Given the description of an element on the screen output the (x, y) to click on. 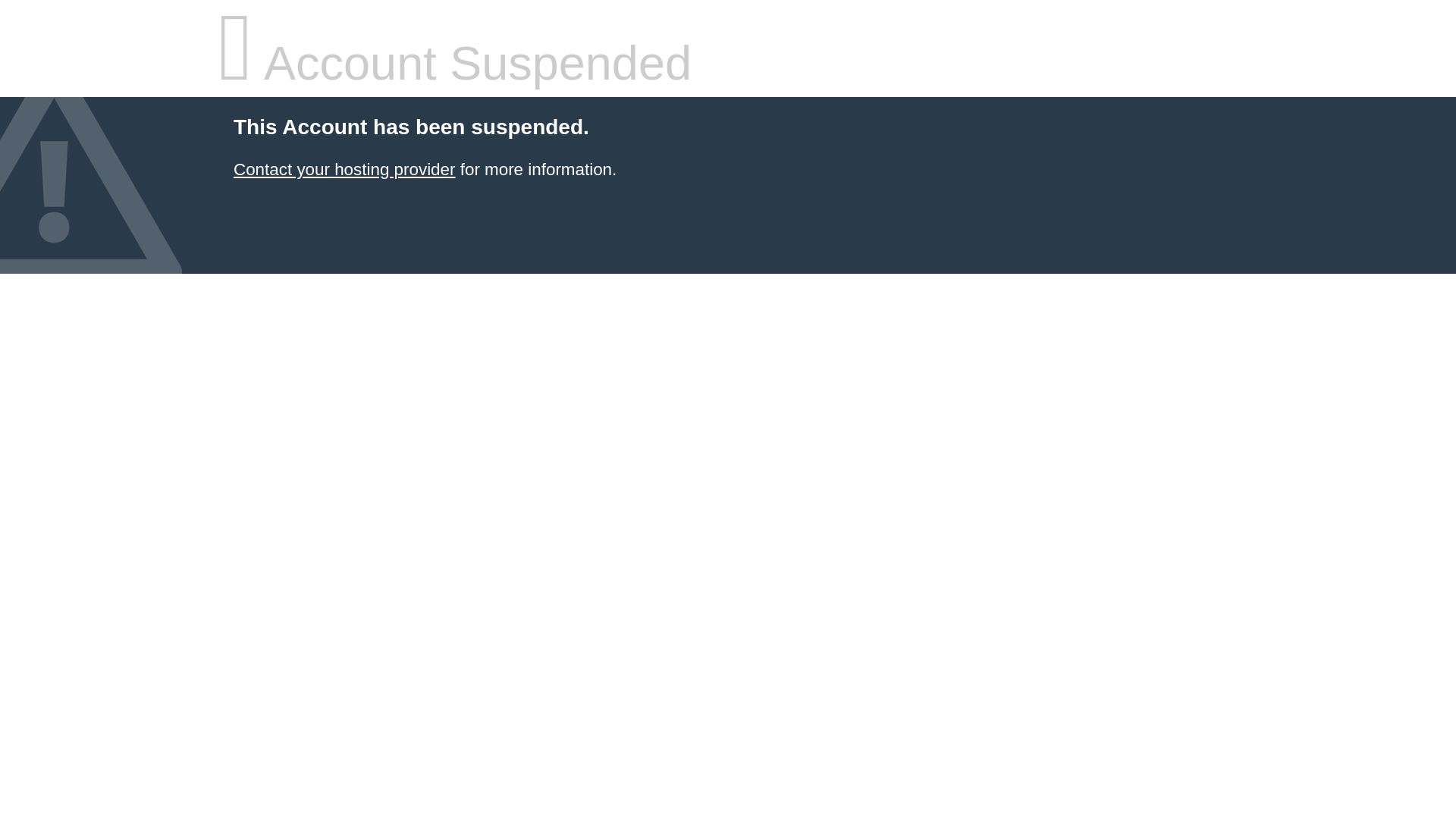
Contact your hosting provider Element type: text (344, 169)
